Given the description of an element on the screen output the (x, y) to click on. 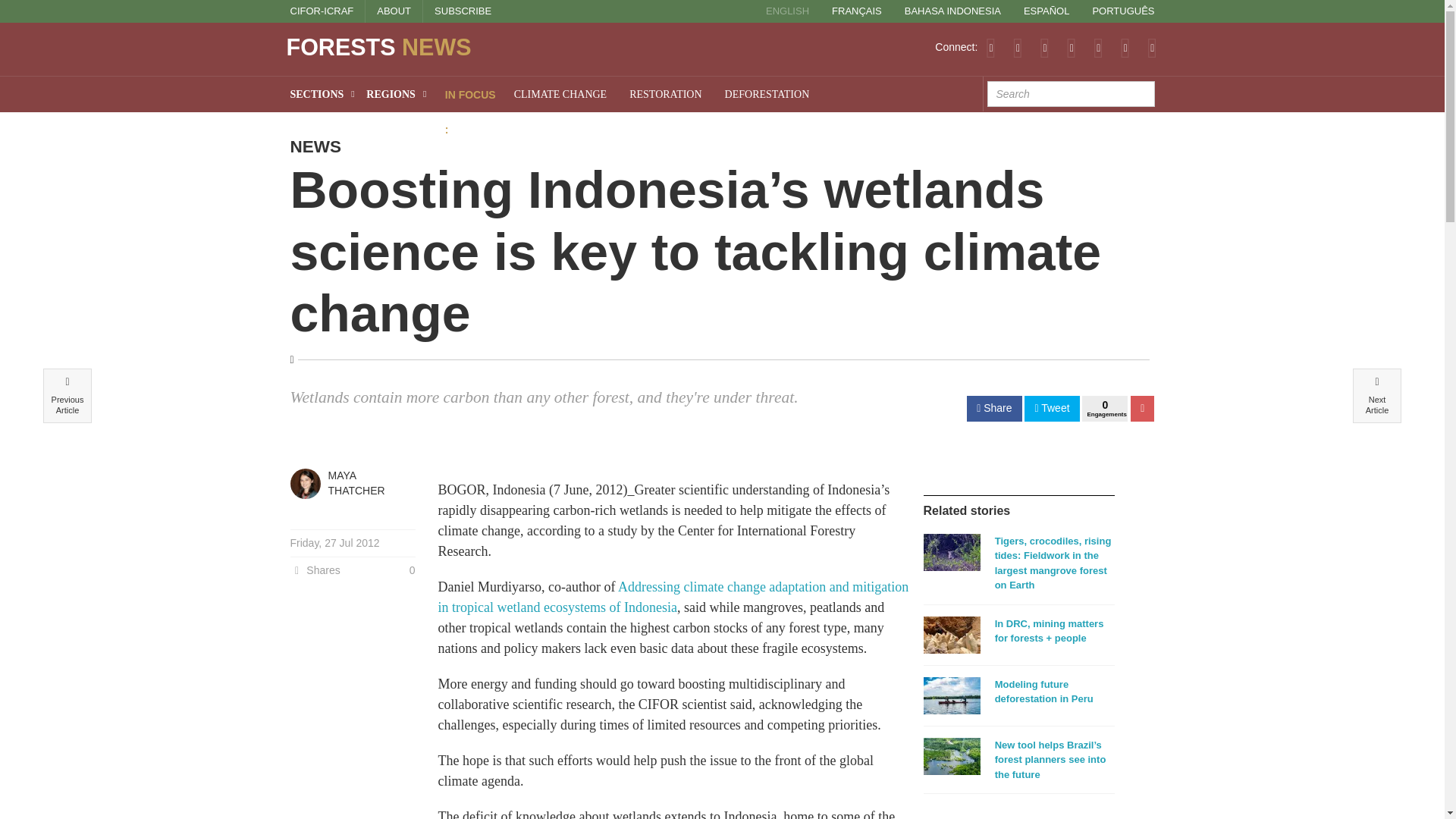
CIFOR-ICRAF (321, 10)
Youtube (1098, 46)
BAHASA INDONESIA (952, 11)
Instagram (1125, 46)
Facebook (1044, 46)
Twitter (1017, 46)
Share on Facebook (994, 408)
Email (1152, 46)
Feed (990, 46)
ENGLISH (787, 11)
SUBSCRIBE (462, 10)
LinkedIn (1071, 46)
ABOUT (393, 10)
